Given the description of an element on the screen output the (x, y) to click on. 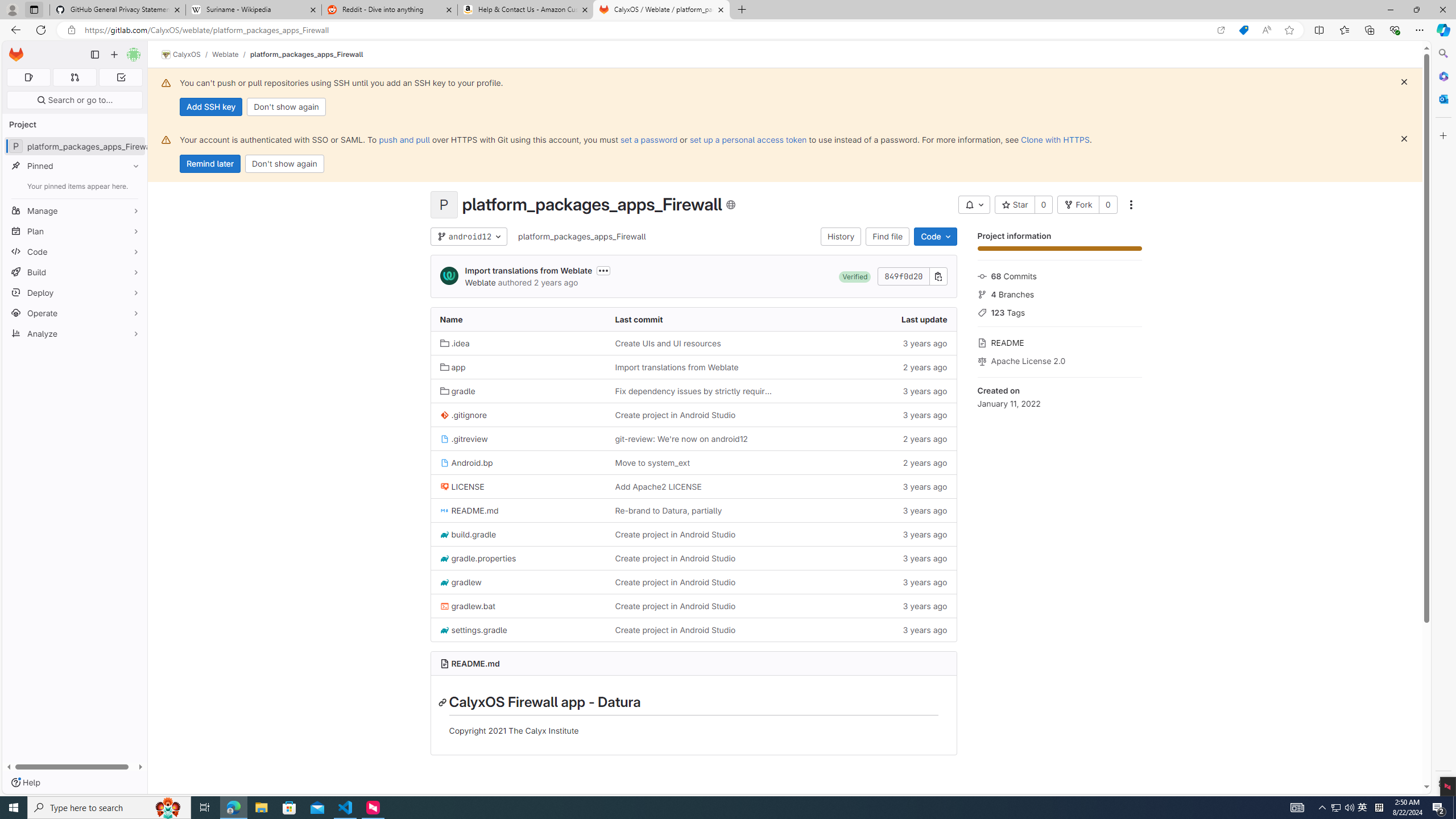
README.md (517, 509)
Copy commit SHA (937, 275)
Primary navigation sidebar (94, 54)
gradlew.bat (467, 605)
LICENSE (461, 486)
Weblate/ (231, 53)
git-review: We're now on android12 (681, 438)
3 years ago (868, 629)
gradlew (517, 582)
README (1058, 341)
Create UIs and UI resources (667, 342)
